Given the description of an element on the screen output the (x, y) to click on. 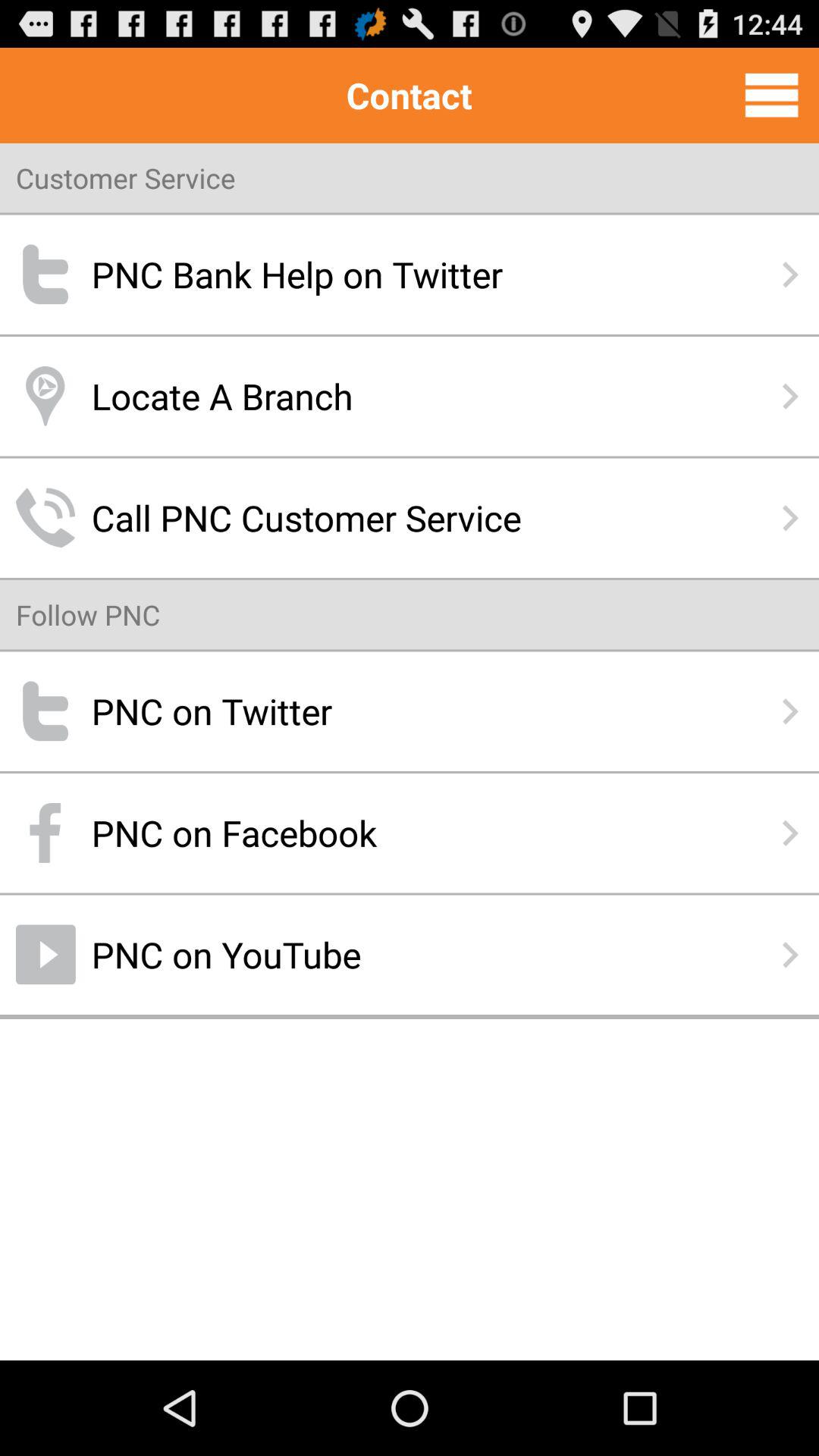
turn off item below the call pnc customer (87, 614)
